Given the description of an element on the screen output the (x, y) to click on. 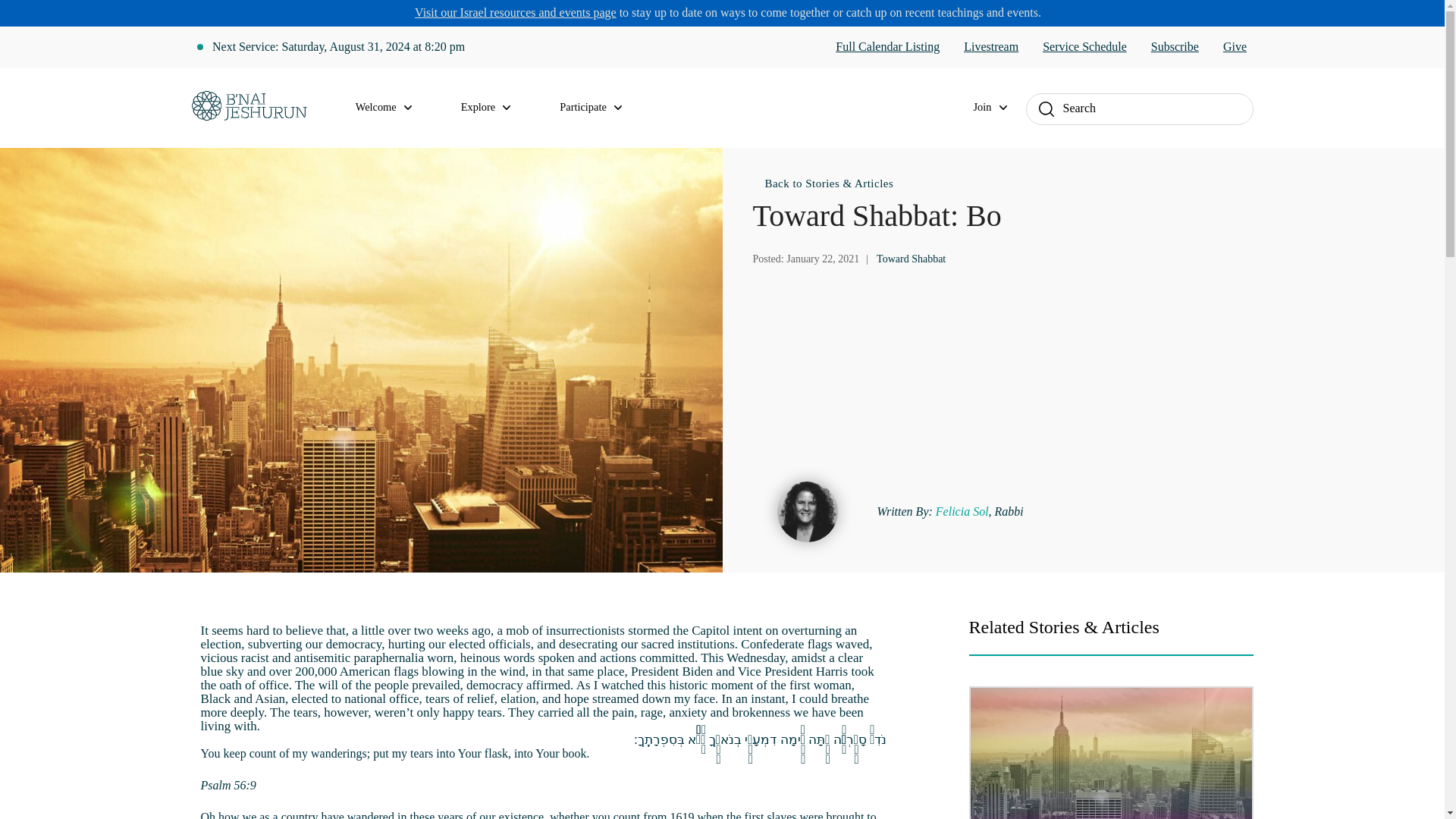
Service Schedule (1084, 47)
Livestream (990, 47)
Subscribe (1174, 47)
Give (1234, 47)
Participate (599, 107)
Welcome (392, 107)
Visit our Israel resources and events page (514, 12)
Full Calendar Listing (887, 47)
Next Service: Saturday, August 31, 2024 at 8:20 pm (338, 47)
